Given the description of an element on the screen output the (x, y) to click on. 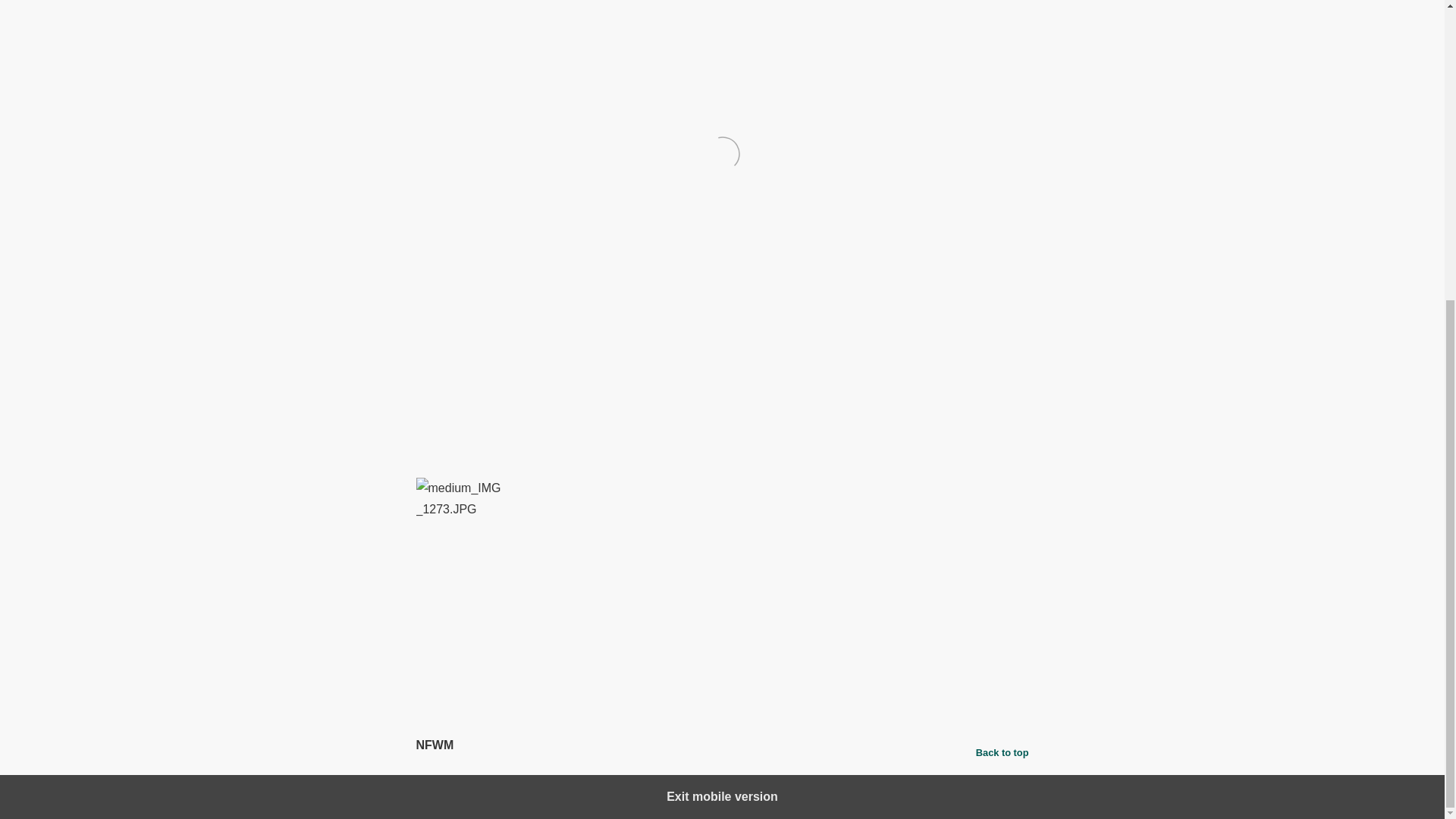
California (466, 694)
Farmworker Awareness Week (565, 694)
Back to top (1002, 752)
United Farm Workers (692, 694)
